Given the description of an element on the screen output the (x, y) to click on. 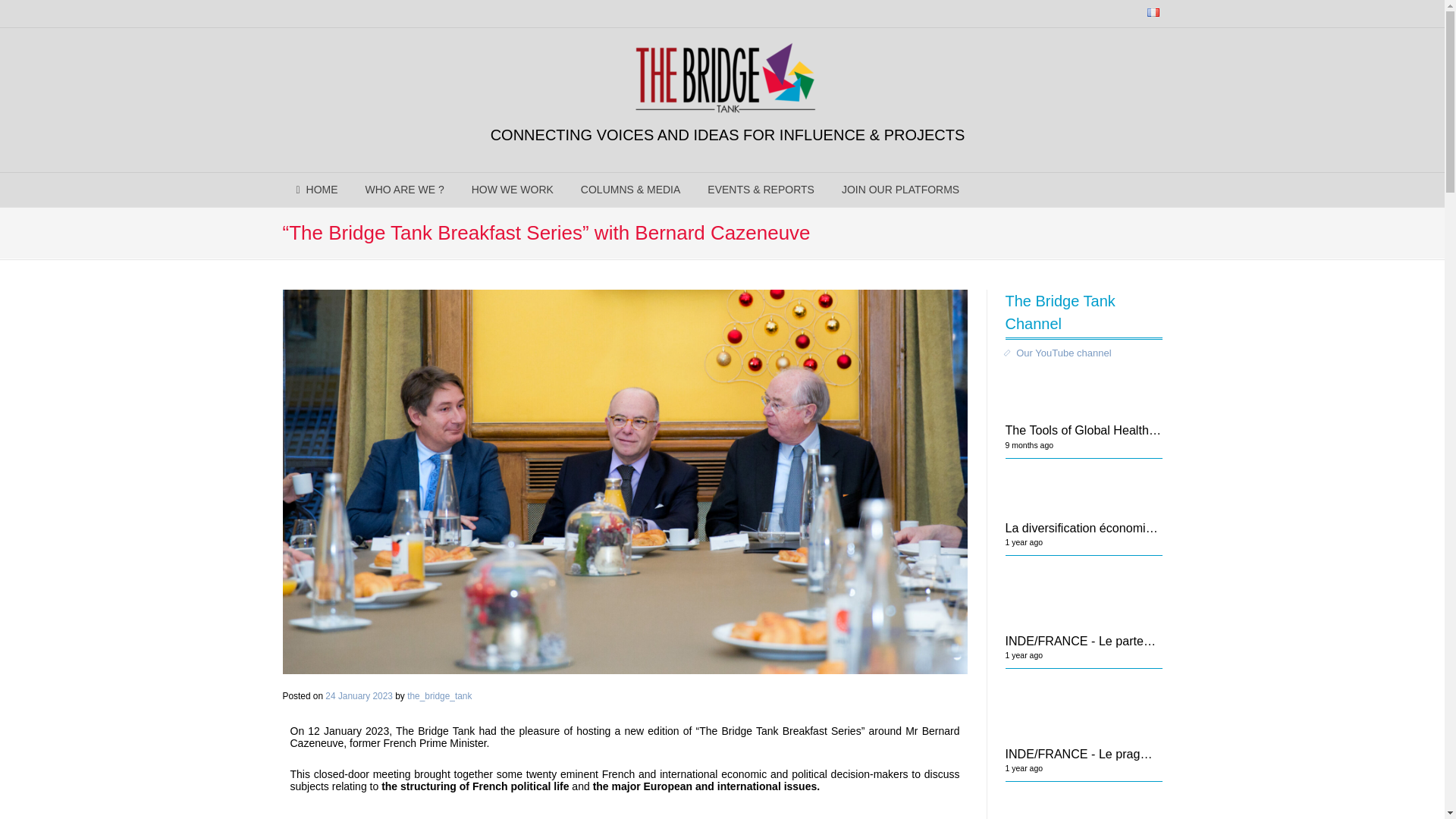
HOME (316, 189)
JOIN OUR PLATFORMS (900, 189)
WHO ARE WE ? (405, 189)
Our YouTube channel (1083, 353)
24 January 2023 (358, 696)
HOW WE WORK (512, 189)
